Given the description of an element on the screen output the (x, y) to click on. 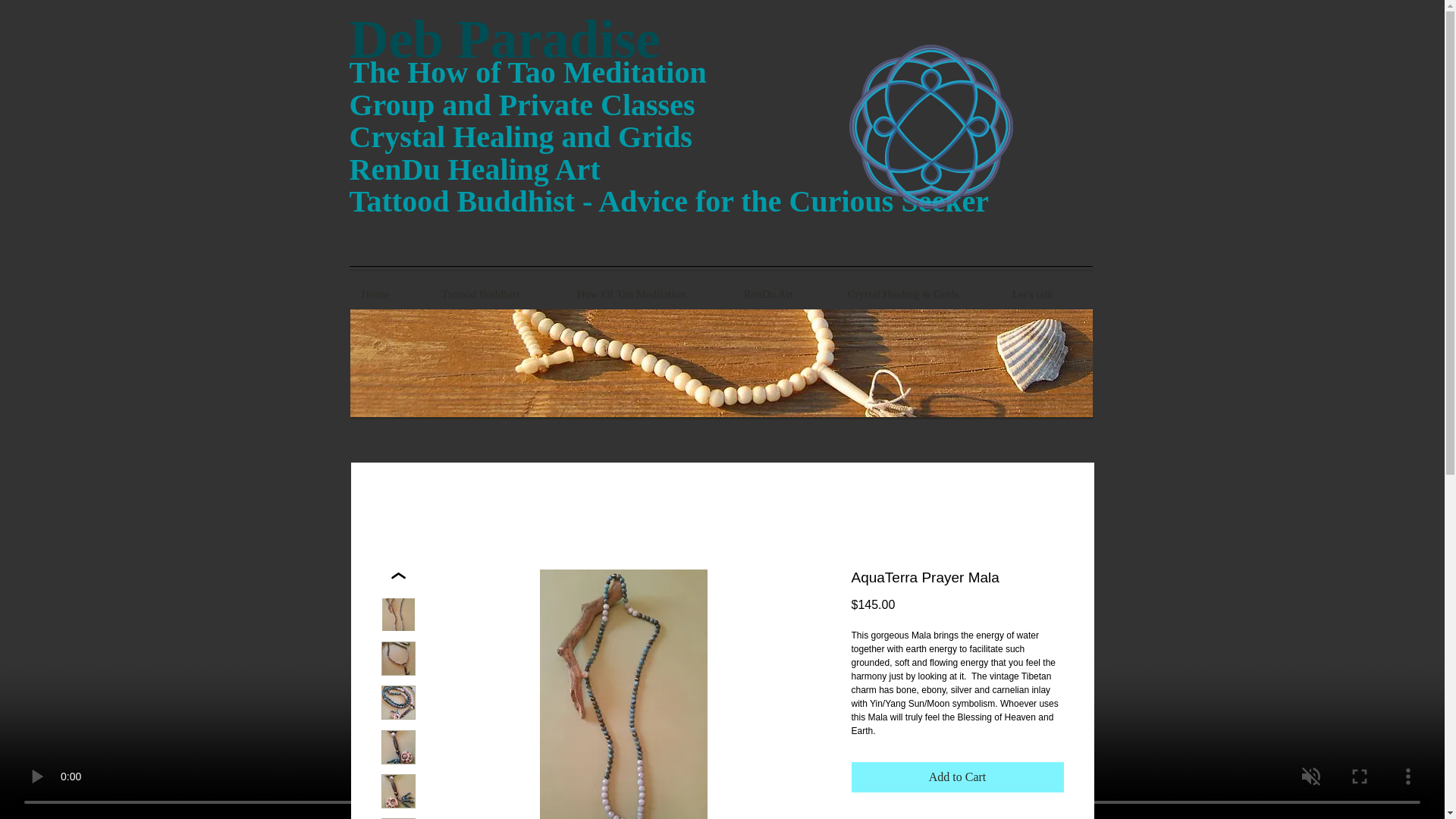
Add to Cart (956, 777)
Home (390, 294)
Tattood Buddhist (498, 294)
Let's talk (1047, 294)
How Of Tao Meditation (649, 294)
RenDu Art (783, 294)
